Given the description of an element on the screen output the (x, y) to click on. 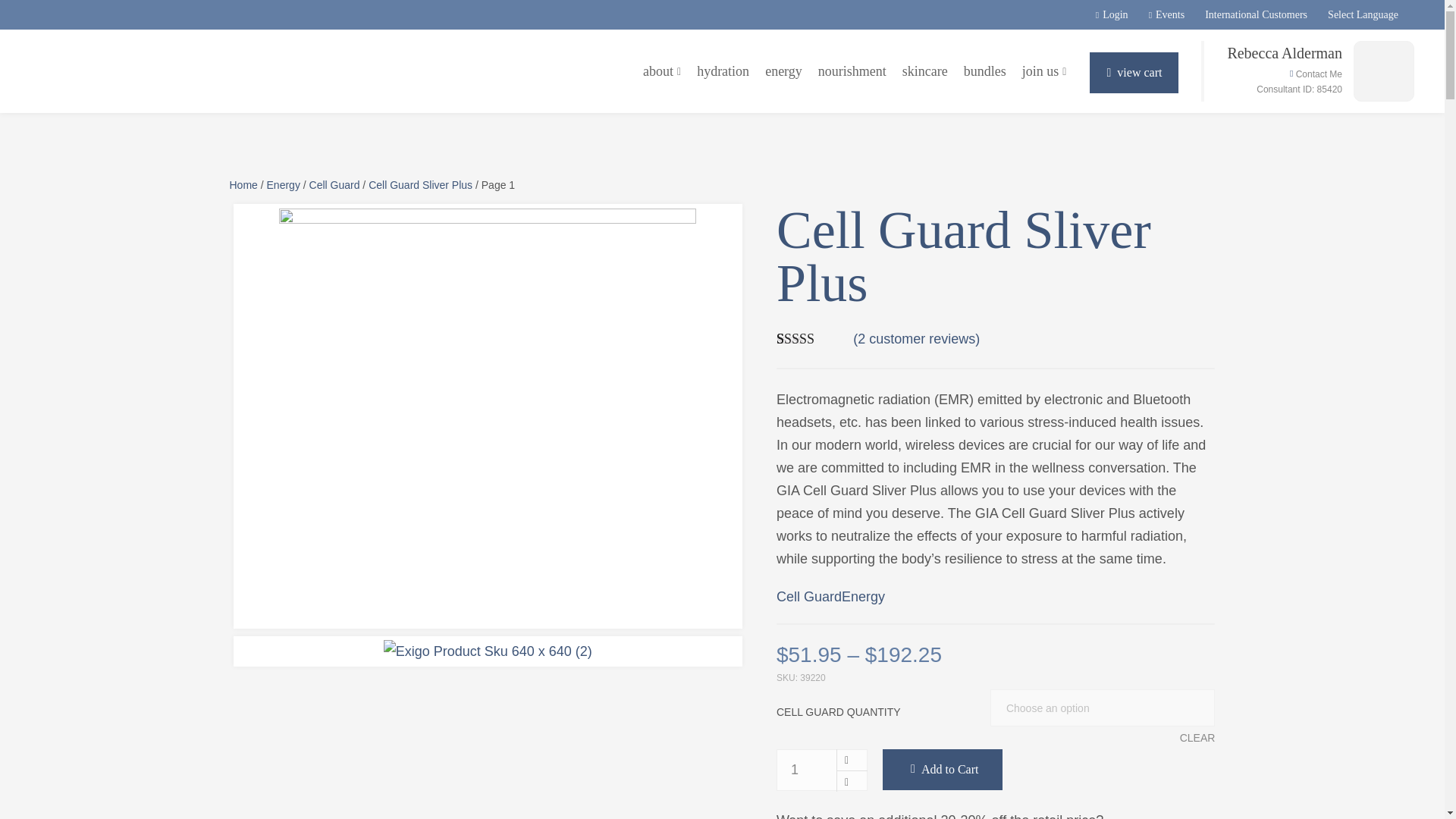
Select Language (1363, 13)
Cell Guard Sliver Plus (419, 184)
about (662, 71)
view cart (1133, 72)
Events (1166, 13)
skincare (924, 71)
International Customers (1255, 13)
Cell Guard (333, 184)
hydration (723, 71)
Contact Me (1316, 73)
